Given the description of an element on the screen output the (x, y) to click on. 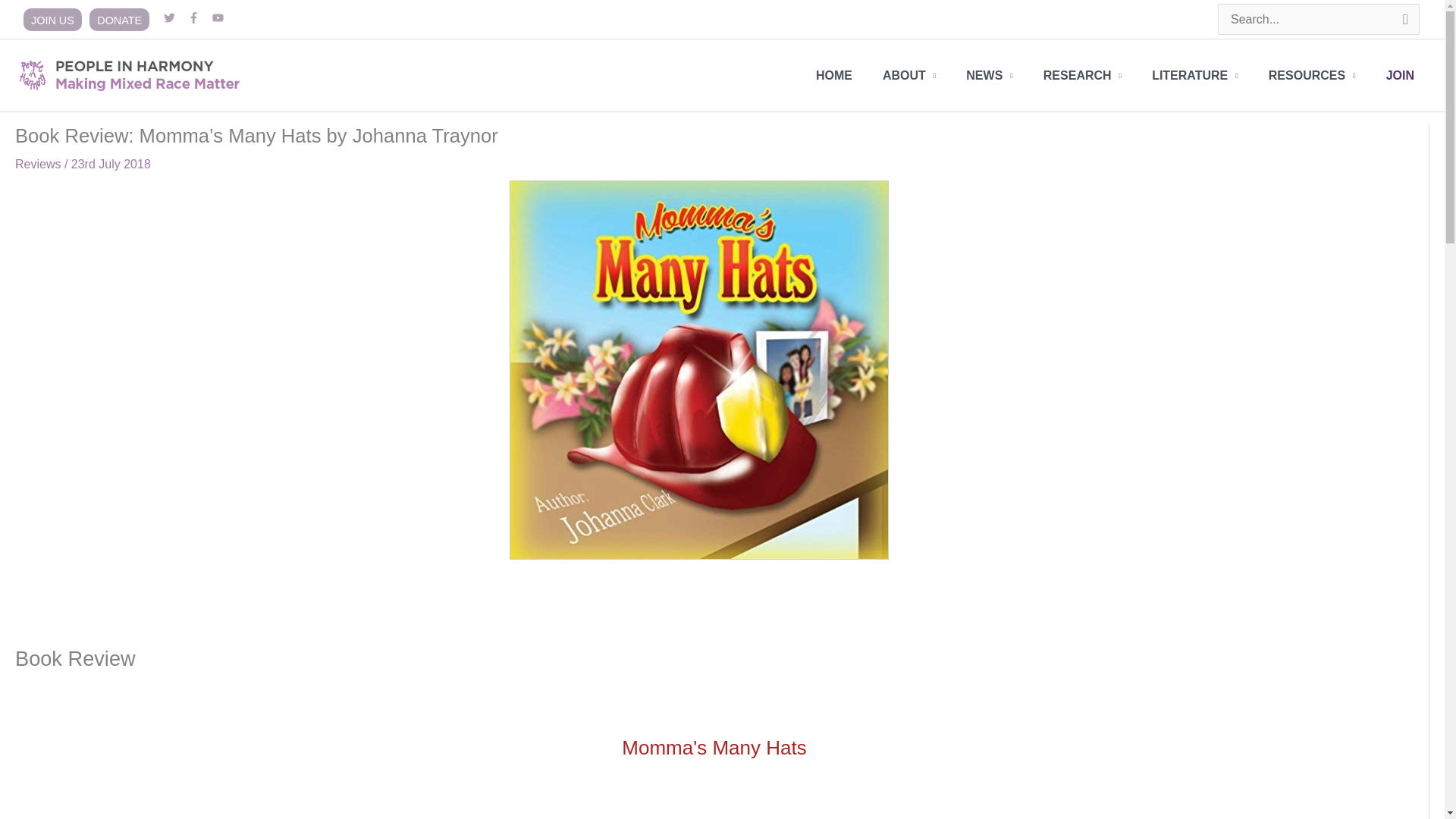
NEWS (988, 75)
Search (1402, 24)
JOIN (1400, 75)
DONATE (119, 20)
Search (1402, 24)
LITERATURE (1195, 75)
Search (1402, 24)
ABOUT (908, 75)
Reviews (37, 164)
JOIN US (52, 20)
RESOURCES (1312, 75)
HOME (833, 75)
RESEARCH (1082, 75)
